Given the description of an element on the screen output the (x, y) to click on. 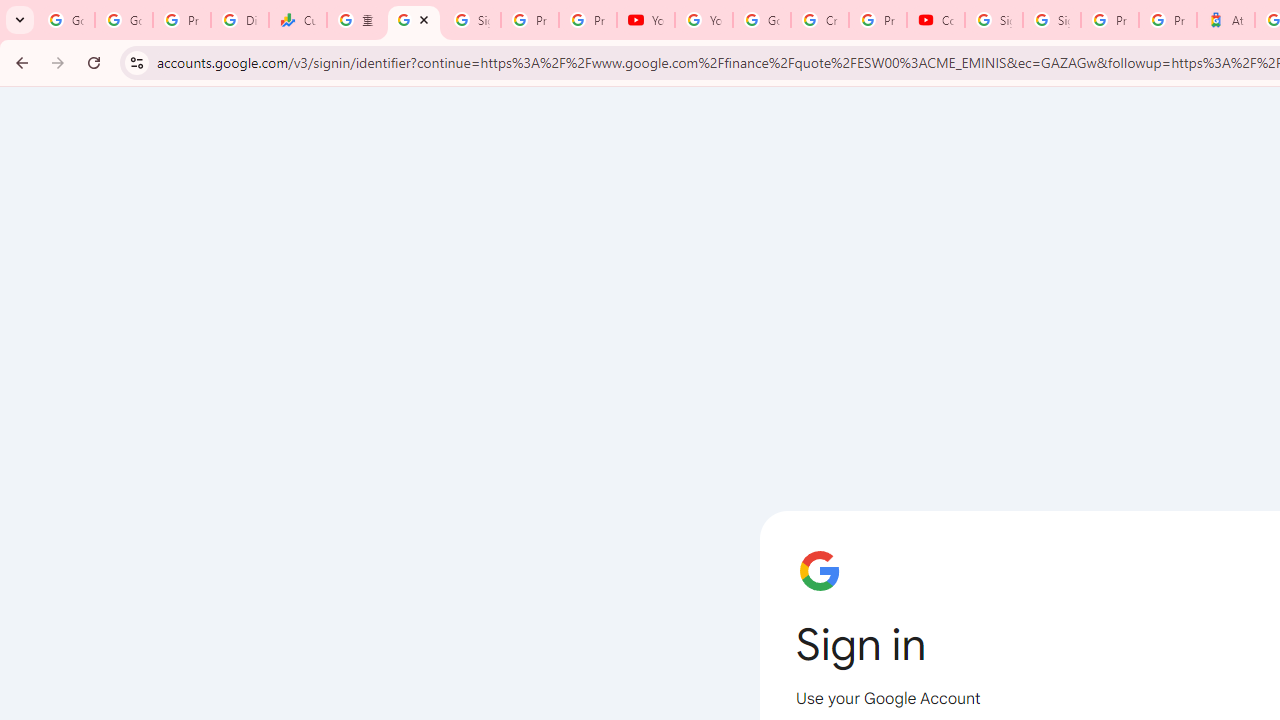
Sign in - Google Accounts (993, 20)
Google Workspace Admin Community (65, 20)
Content Creator Programs & Opportunities - YouTube Creators (936, 20)
Atour Hotel - Google hotels (1225, 20)
Privacy Checkup (587, 20)
Sign in - Google Accounts (413, 20)
YouTube (703, 20)
